Given the description of an element on the screen output the (x, y) to click on. 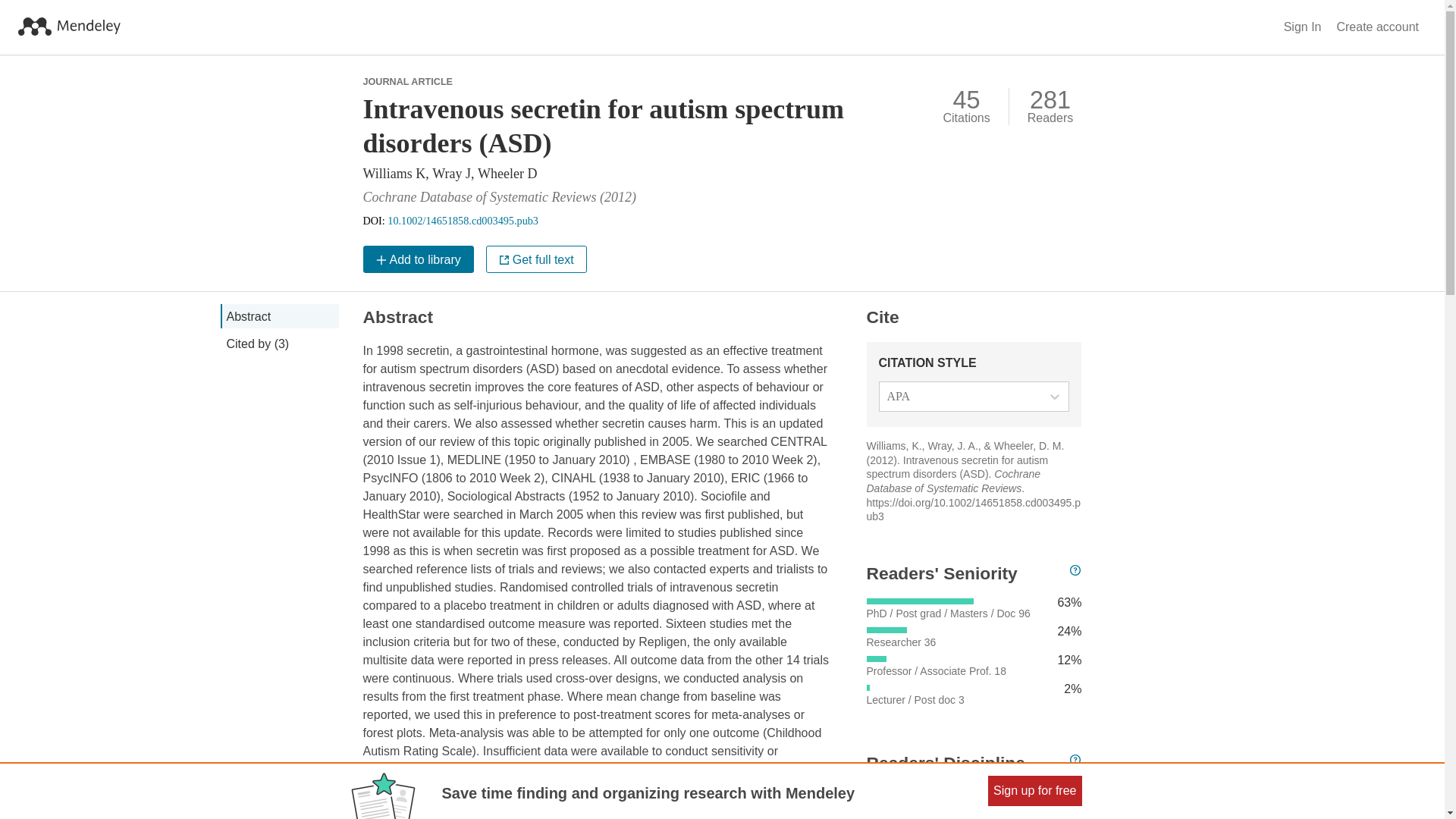
Add to library (417, 258)
Abstract (278, 315)
Sign In (1303, 27)
Get full text (536, 258)
Create account (1377, 27)
